Given the description of an element on the screen output the (x, y) to click on. 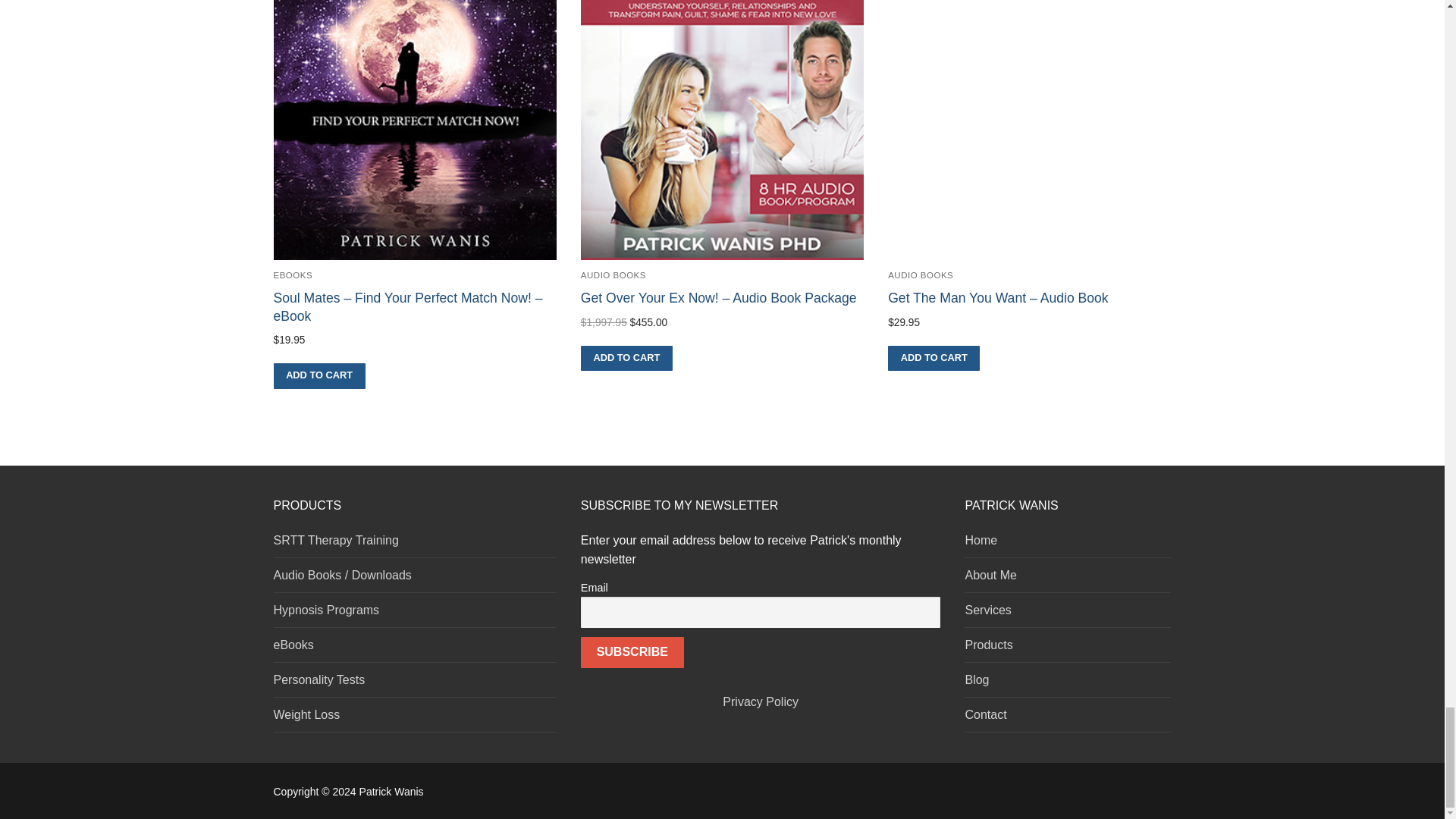
Subscribe (632, 653)
